Given the description of an element on the screen output the (x, y) to click on. 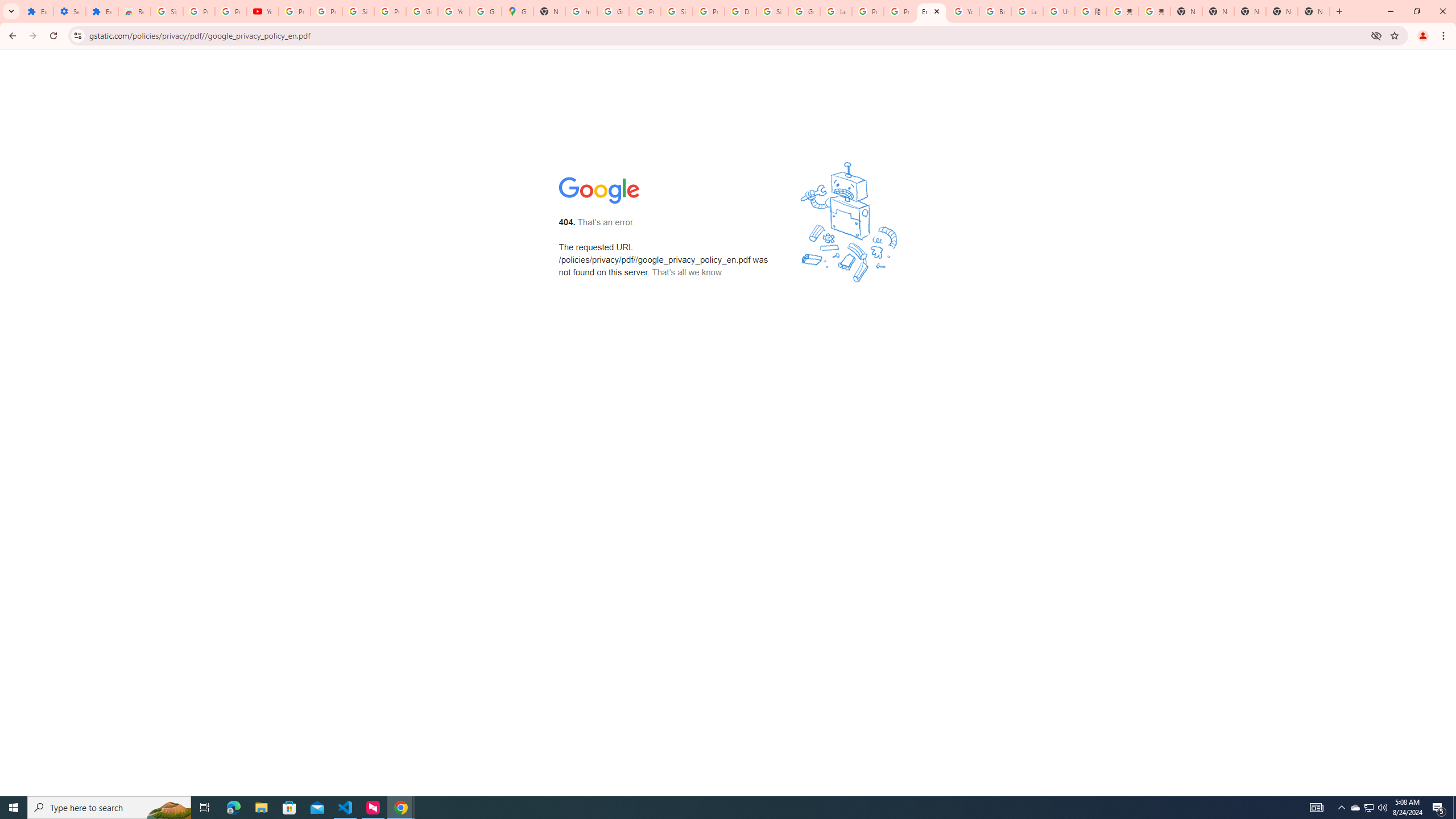
https://scholar.google.com/ (581, 11)
Sign in - Google Accounts (772, 11)
New Tab (1313, 11)
